Given the description of an element on the screen output the (x, y) to click on. 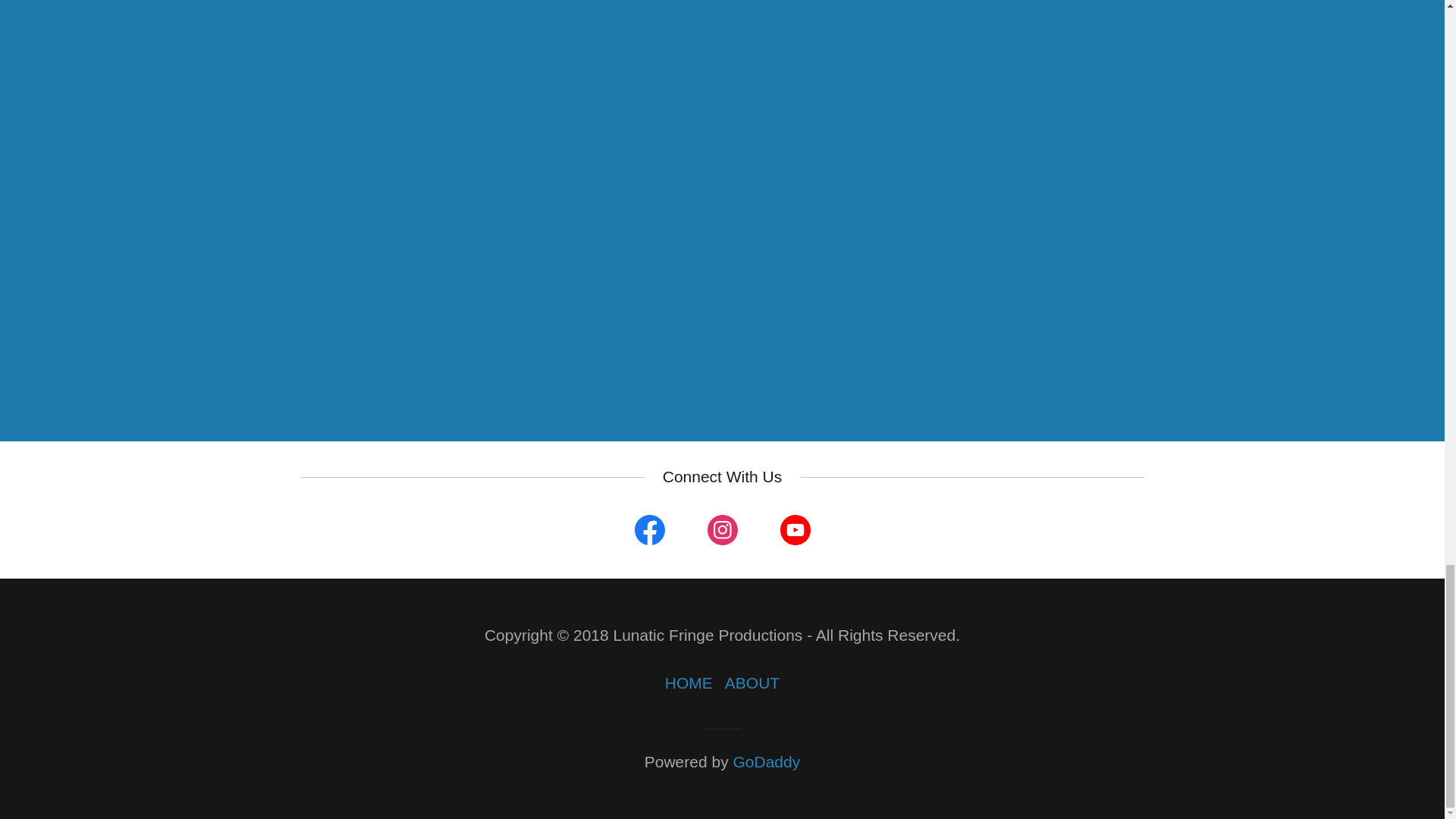
GoDaddy (765, 761)
HOME (689, 683)
ABOUT (752, 683)
